Given the description of an element on the screen output the (x, y) to click on. 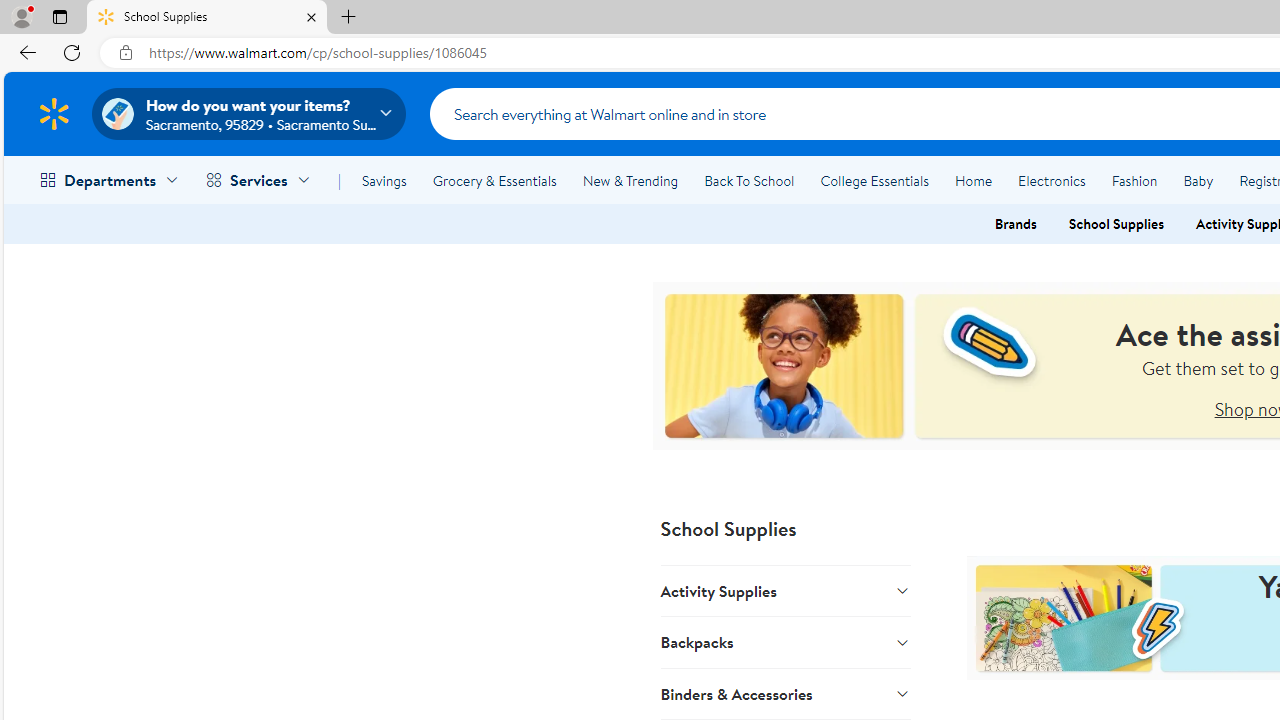
Grocery & Essentials (493, 180)
Savings (384, 180)
New & Trending (630, 180)
College Essentials (874, 180)
New & Trending (630, 180)
Brands (1015, 224)
Grocery & Essentials (493, 180)
School Supplies (207, 17)
Back To School (749, 180)
Fashion (1134, 180)
